Given the description of an element on the screen output the (x, y) to click on. 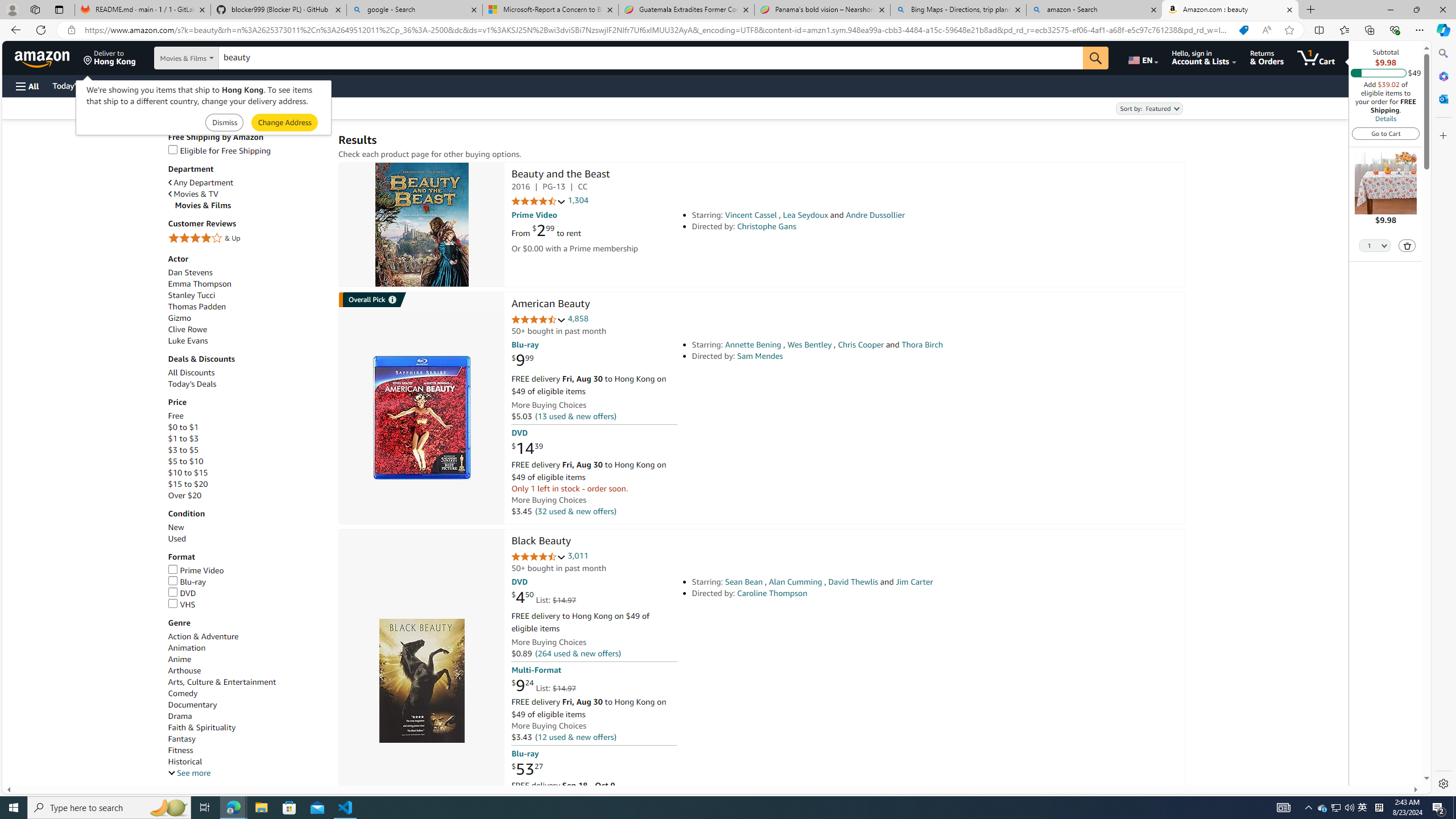
Movies & TV (192, 194)
DVD (247, 593)
Open Menu (26, 86)
Stanley Tucci (247, 295)
DVD (181, 592)
Movies & Films (250, 205)
$10 to $15 (187, 472)
Animation (247, 647)
(12 used & new offers) (574, 736)
Go (1096, 57)
$1 to $3 (183, 438)
Gift Cards (251, 85)
David Thewlis (852, 581)
Over $20 (247, 495)
